Given the description of an element on the screen output the (x, y) to click on. 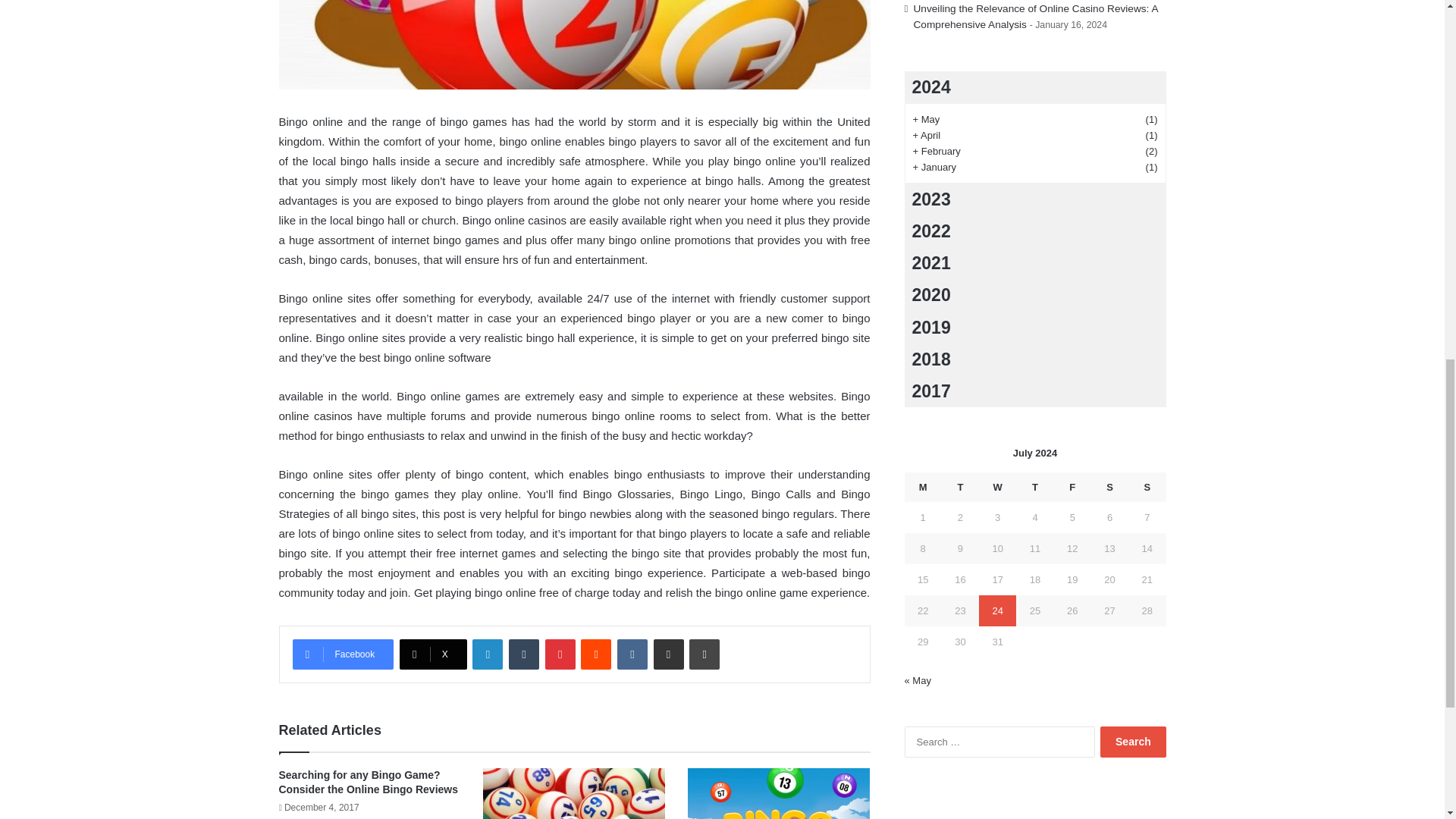
LinkedIn (486, 654)
Tumblr (523, 654)
VKontakte (632, 654)
X (432, 654)
Share via Email (668, 654)
LinkedIn (486, 654)
Reddit (595, 654)
VKontakte (632, 654)
Pinterest (559, 654)
Print (703, 654)
X (432, 654)
Search (1133, 741)
Facebook (343, 654)
Search (1133, 741)
Reddit (595, 654)
